Given the description of an element on the screen output the (x, y) to click on. 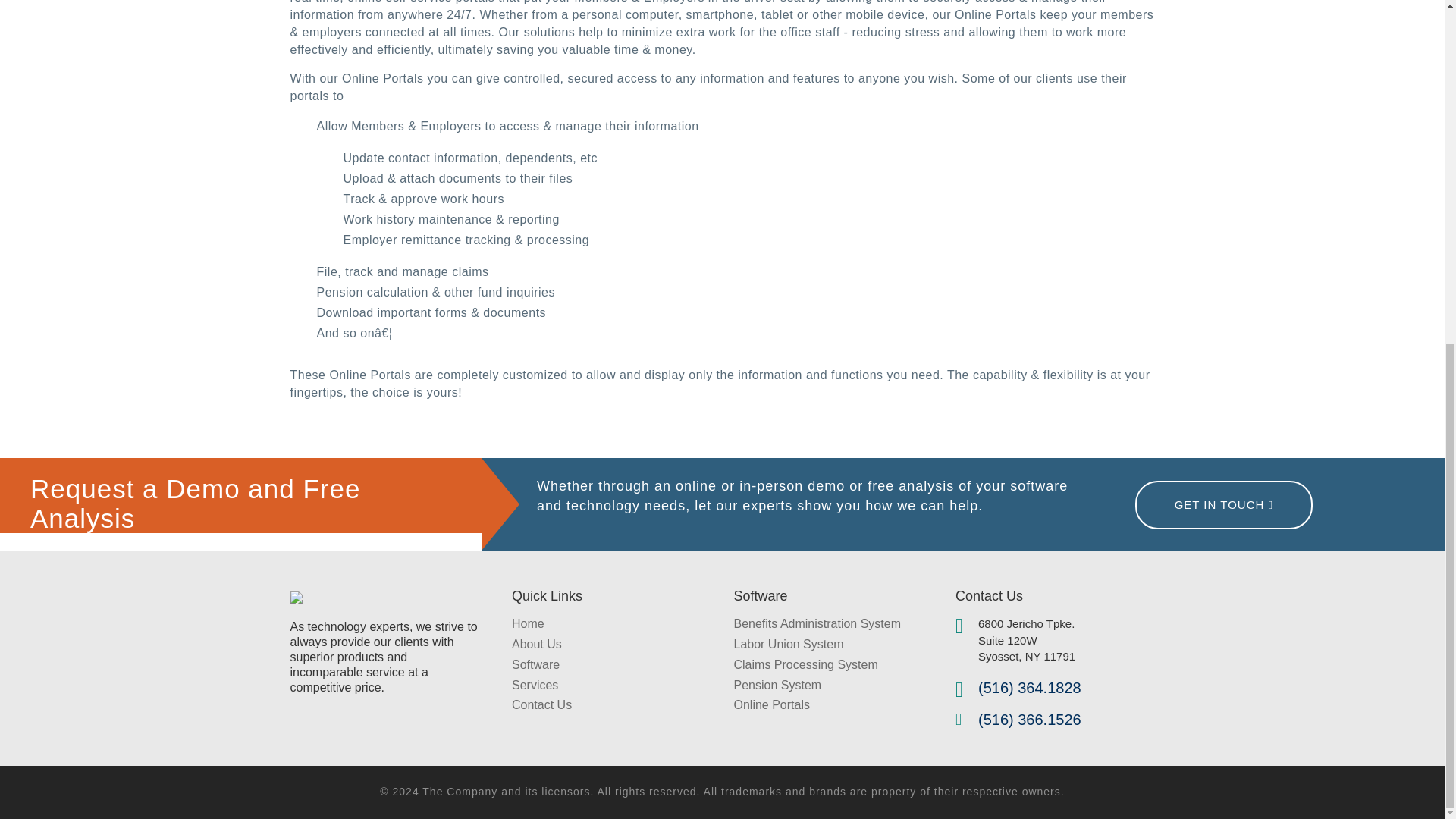
Claims Processing System (805, 664)
Pension System (777, 684)
Contact Us (542, 704)
Labor Union System (788, 644)
Home (528, 623)
About Us (537, 644)
Online Portals (771, 704)
Software (535, 664)
Benefits Administration System (817, 623)
Services (534, 684)
KMR Systems (295, 595)
GET IN TOUCH (1224, 504)
